Given the description of an element on the screen output the (x, y) to click on. 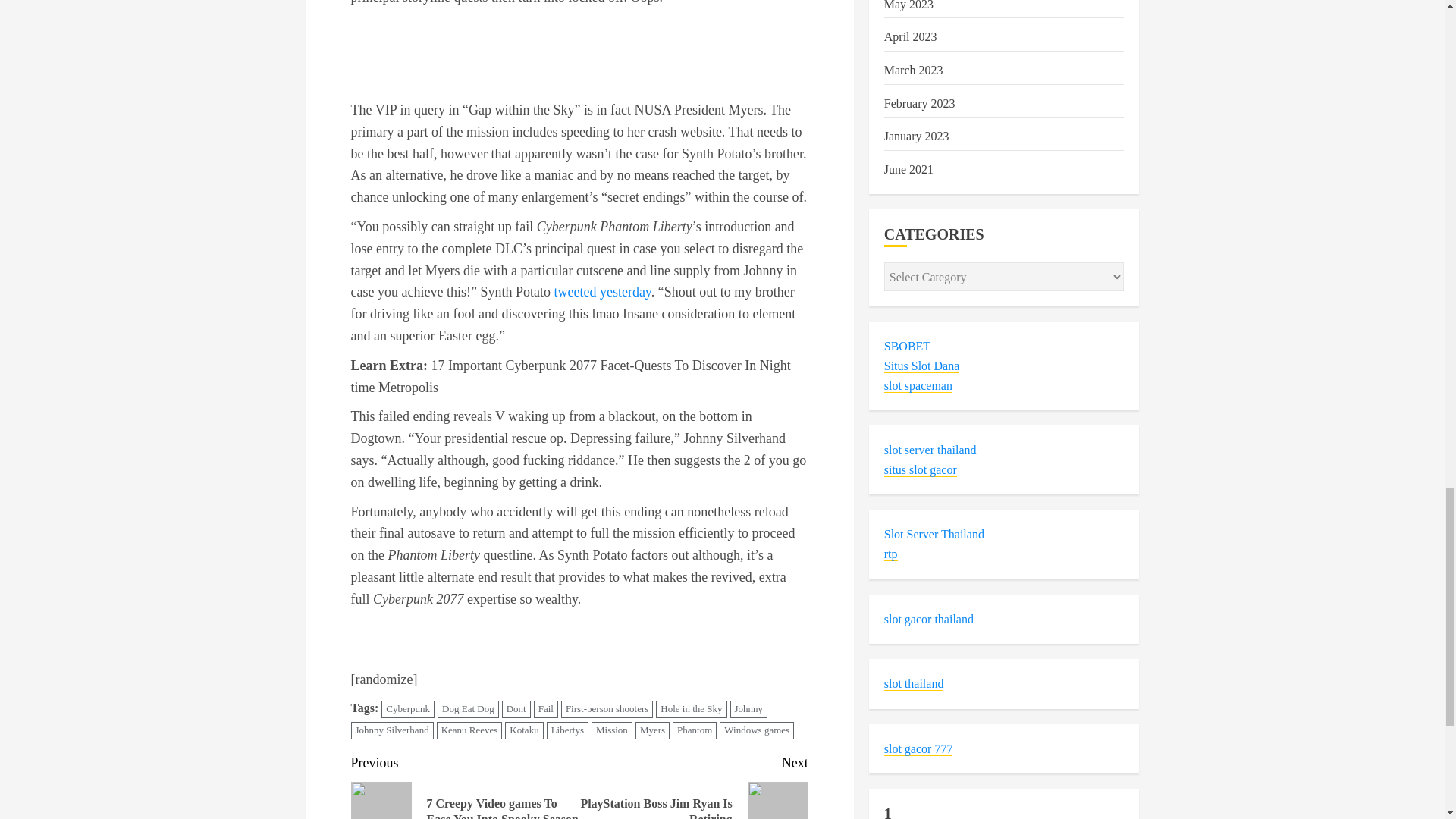
Dont (516, 709)
Cyberpunk (407, 709)
tweeted yesterday (601, 291)
Dog Eat Dog (468, 709)
Fail (545, 709)
First-person shooters (606, 709)
